Given the description of an element on the screen output the (x, y) to click on. 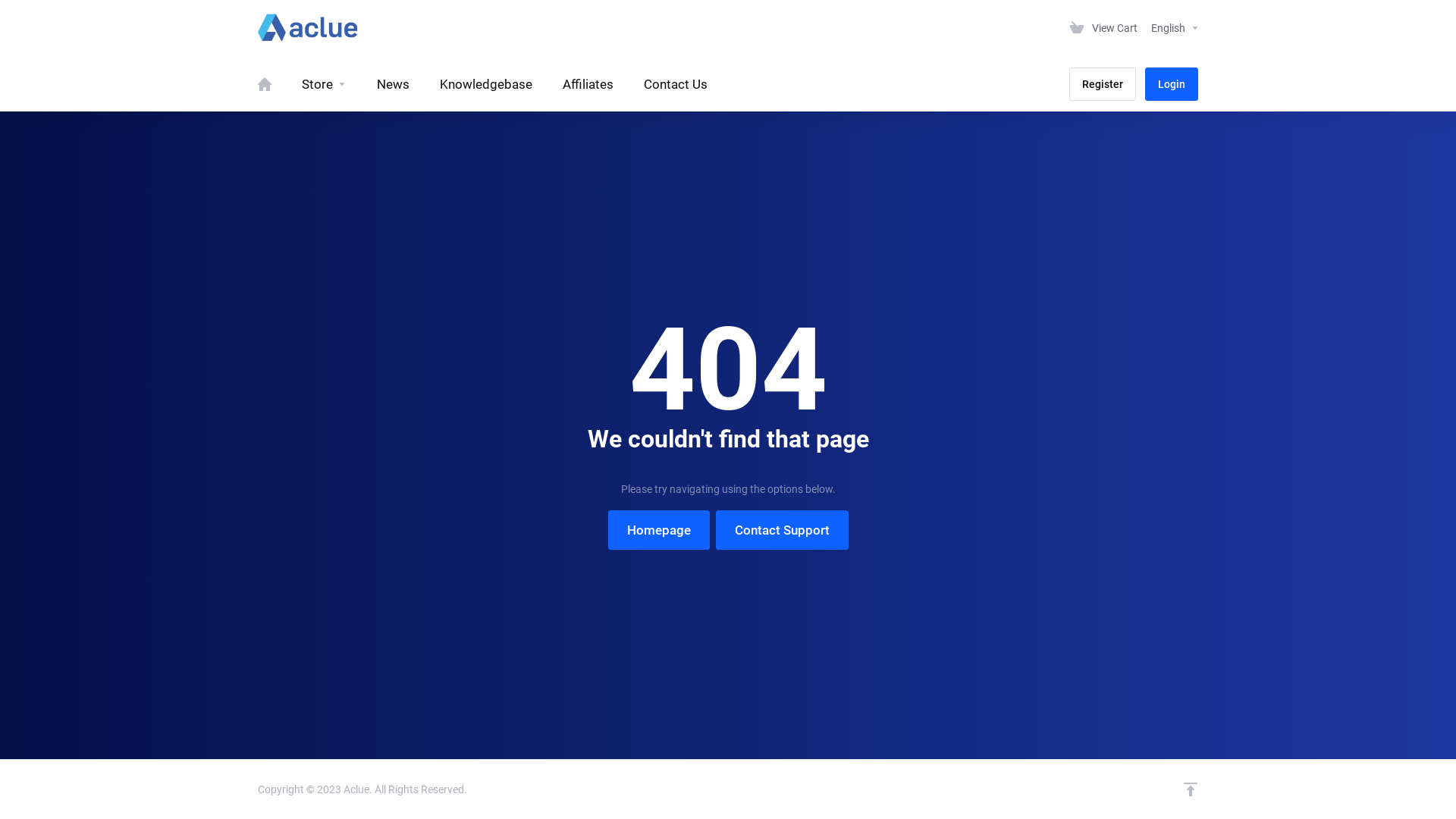
Contact Support Element type: text (781, 529)
Knowledgebase Element type: text (485, 84)
Login Element type: text (1171, 83)
View Cart Element type: text (1103, 27)
English Element type: text (1175, 27)
Homepage Element type: text (658, 529)
Contact Us Element type: text (675, 84)
News Element type: text (392, 84)
Store Element type: text (323, 84)
Register Element type: text (1102, 83)
Affiliates Element type: text (587, 84)
